Given the description of an element on the screen output the (x, y) to click on. 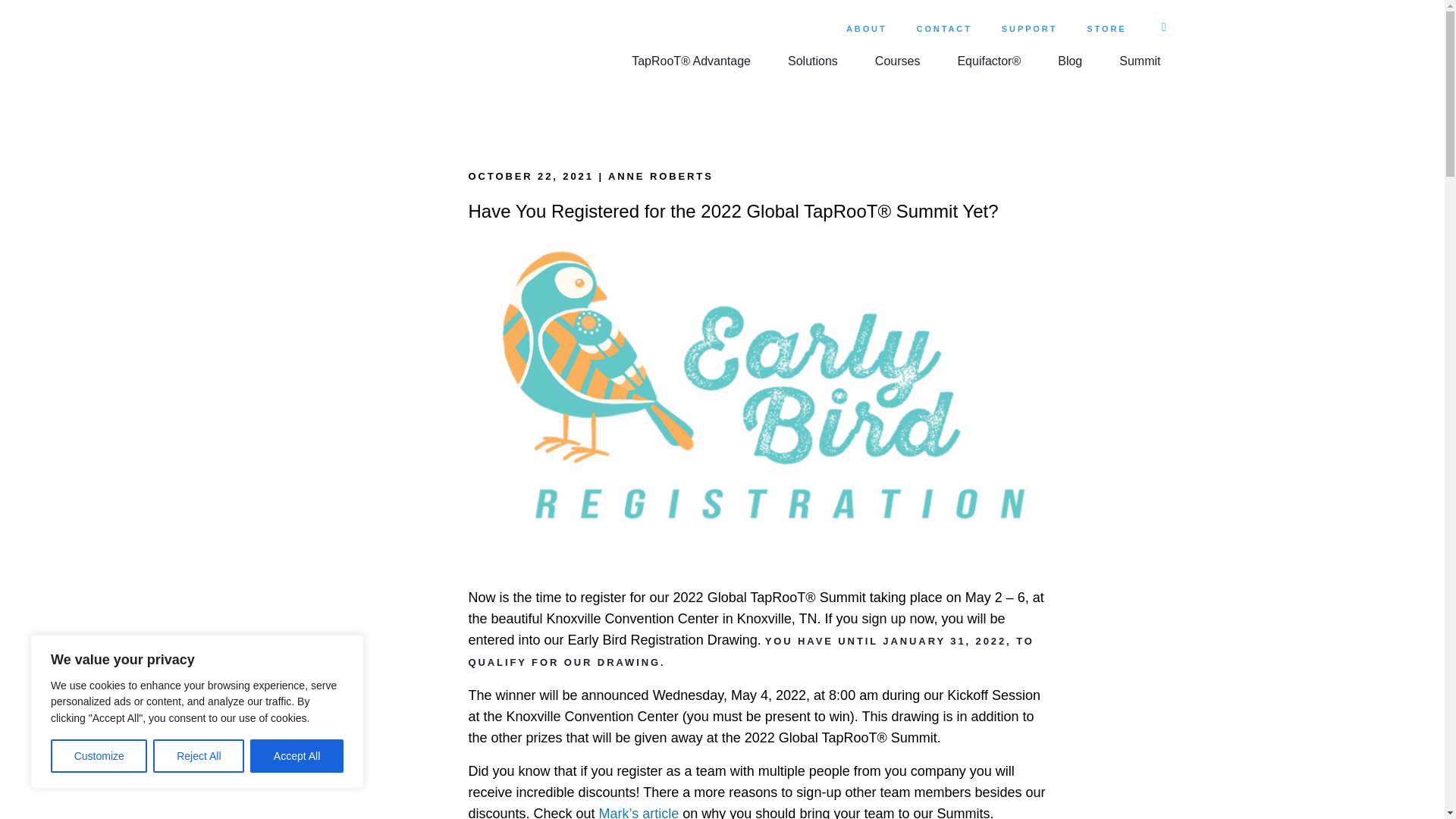
Healthcare (809, 106)
SUPPORT (1028, 29)
STORE (1106, 29)
Implementation (1017, 106)
ABOUT (866, 29)
By Service (688, 125)
Implementation (1017, 106)
Solutions (813, 61)
Software (804, 106)
eLearning Pathways (1028, 106)
